Given the description of an element on the screen output the (x, y) to click on. 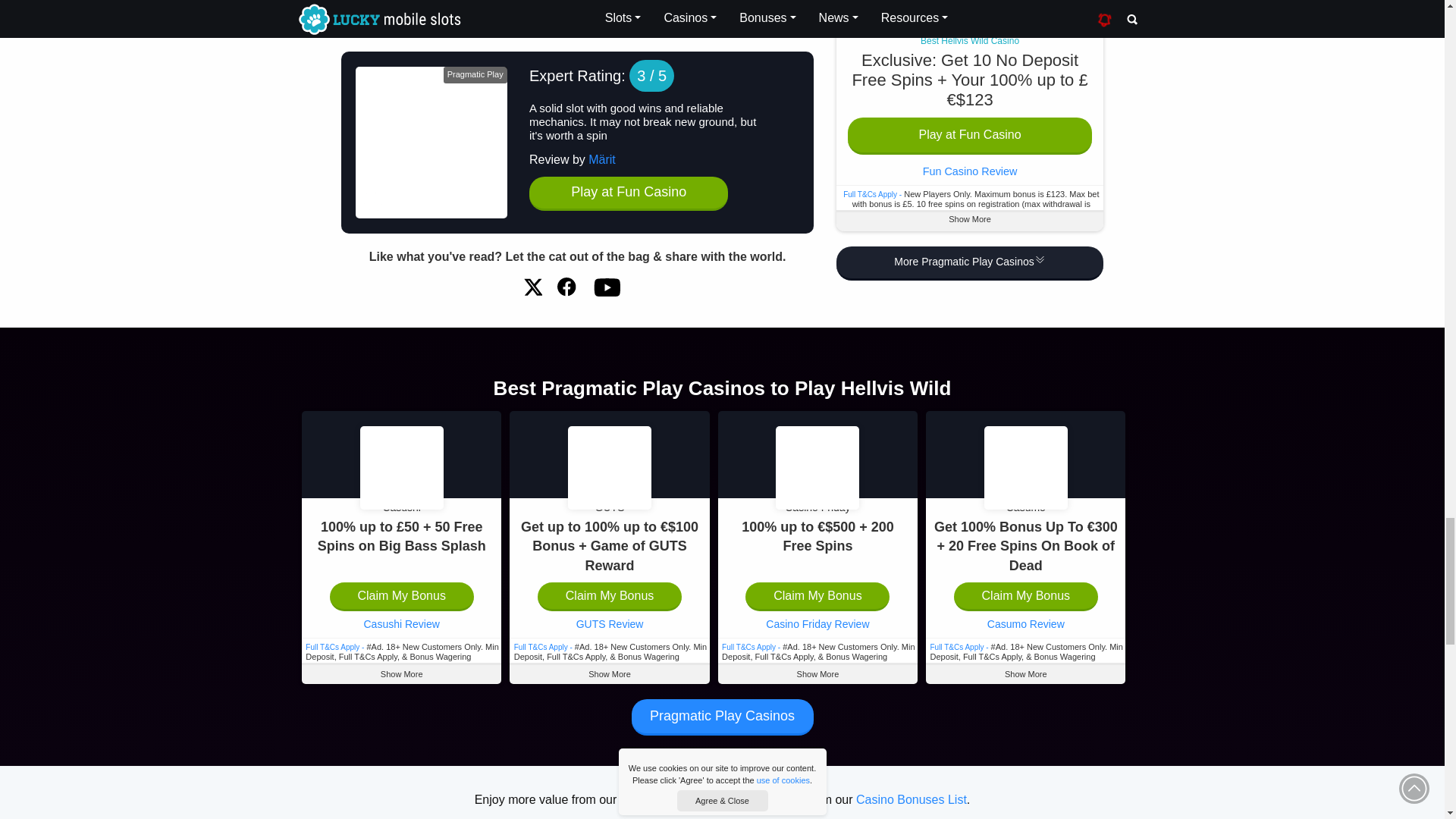
Tweet it Feline Friend! (531, 286)
Share The Wealth (566, 286)
More Pragmatic Play Casinos (969, 5)
LMS Slot Videos (606, 286)
